Given the description of an element on the screen output the (x, y) to click on. 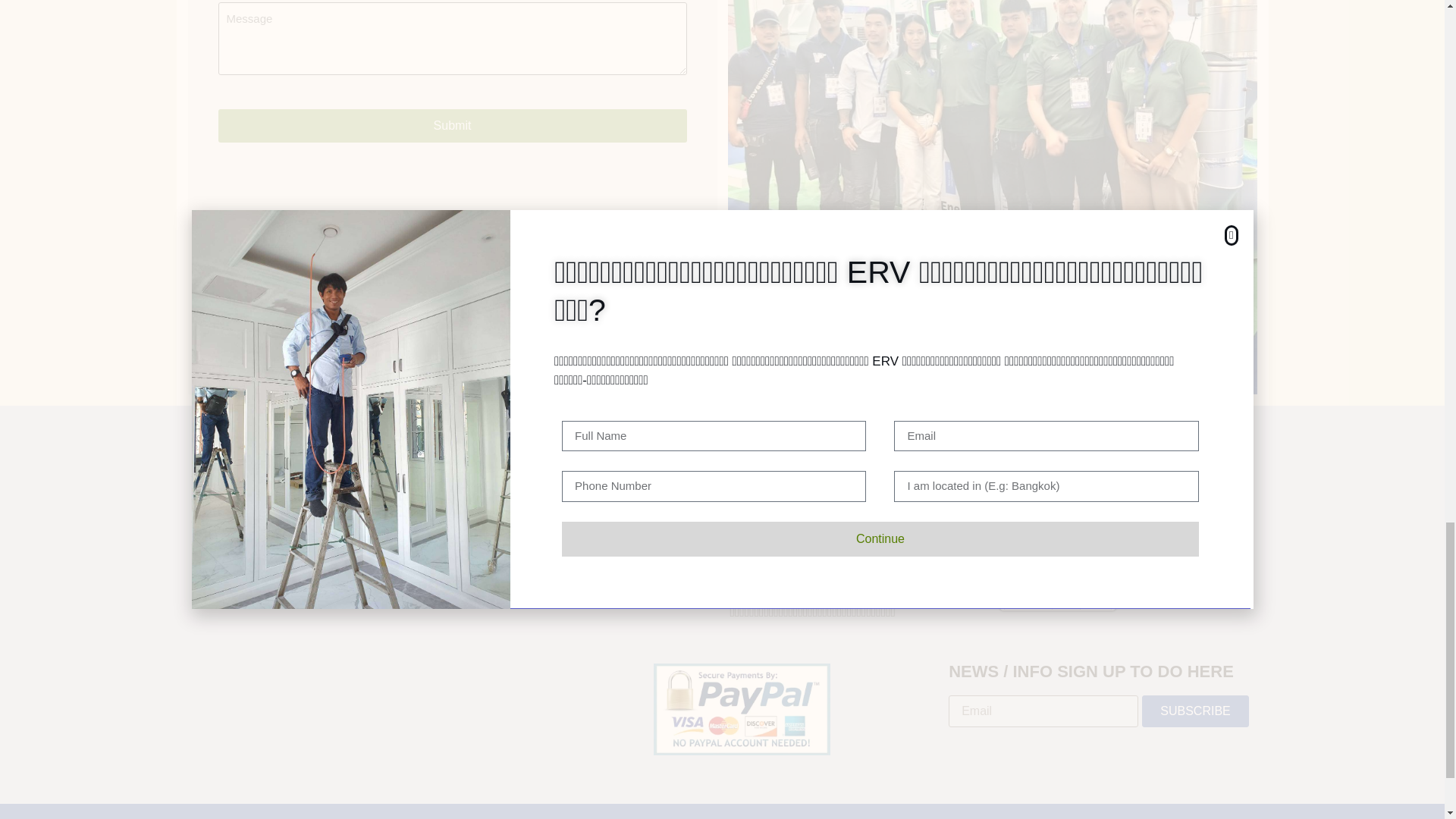
Submit (452, 125)
Ventpro Instagram (317, 549)
Bangkok (1061, 480)
Ventpro Blog (317, 481)
Ventpro Facebook (317, 526)
Submit (452, 125)
Swegon Air Academy (317, 458)
Ventpro Youtube (317, 504)
Moderate (1058, 532)
